Given the description of an element on the screen output the (x, y) to click on. 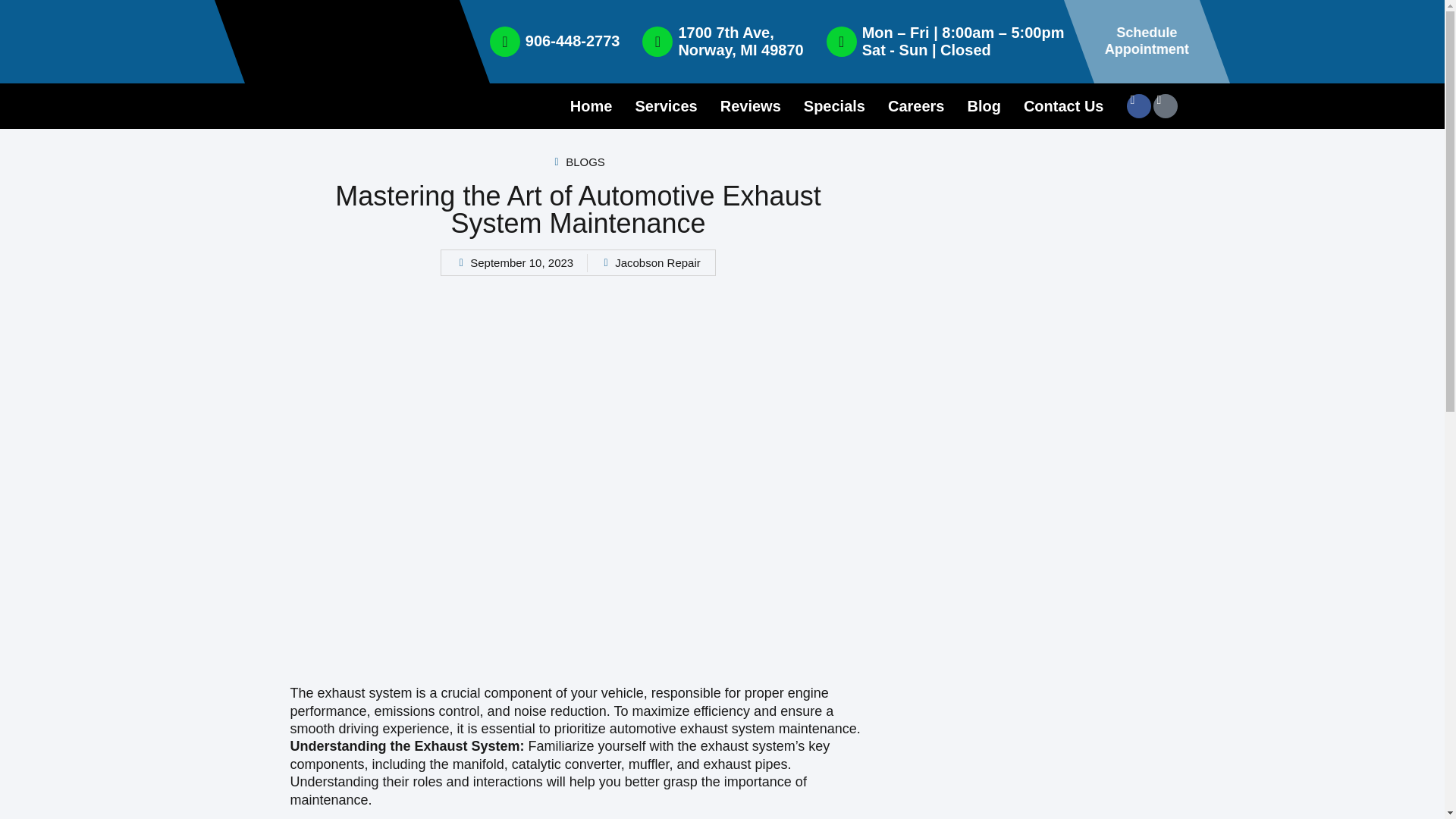
BLOGS (585, 161)
Contact Us (1146, 41)
Careers (1063, 105)
Specials (916, 105)
Reviews (834, 105)
Blog (750, 105)
Services (983, 105)
Home (665, 105)
